Given the description of an element on the screen output the (x, y) to click on. 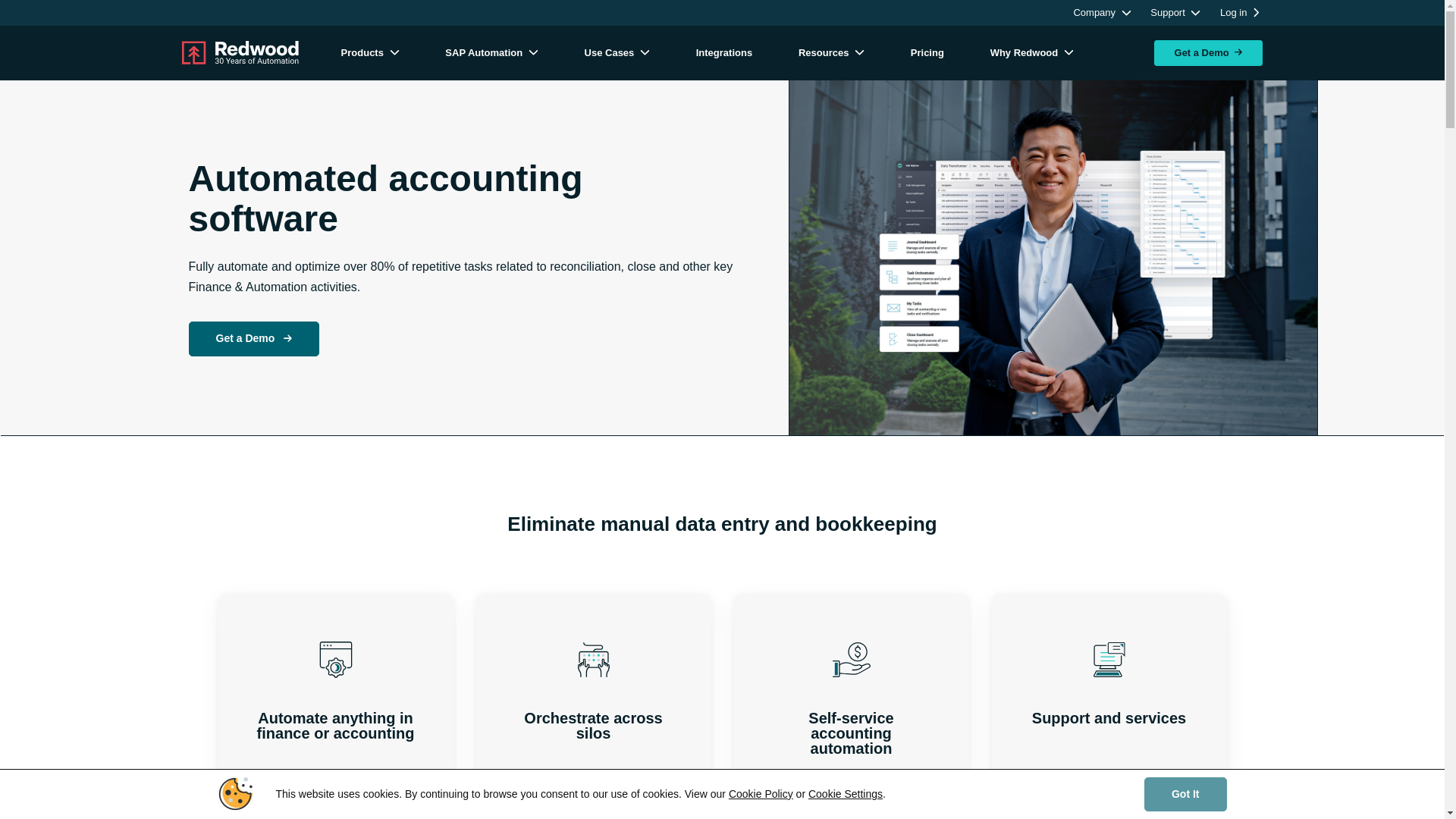
Log in (1238, 13)
